Given the description of an element on the screen output the (x, y) to click on. 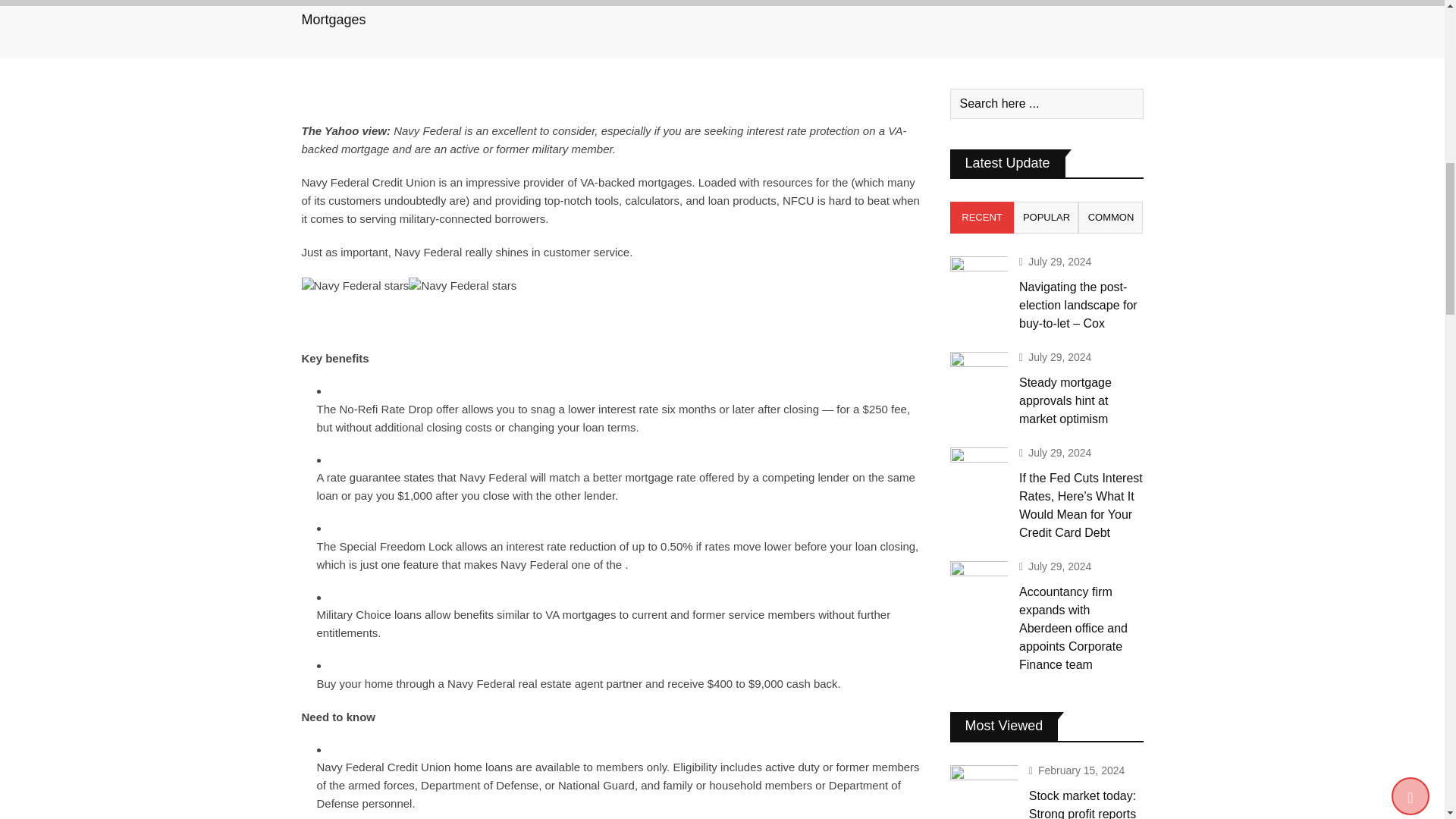
Steady mortgage approvals hint at market optimism (978, 375)
Mortgages (333, 19)
